Given the description of an element on the screen output the (x, y) to click on. 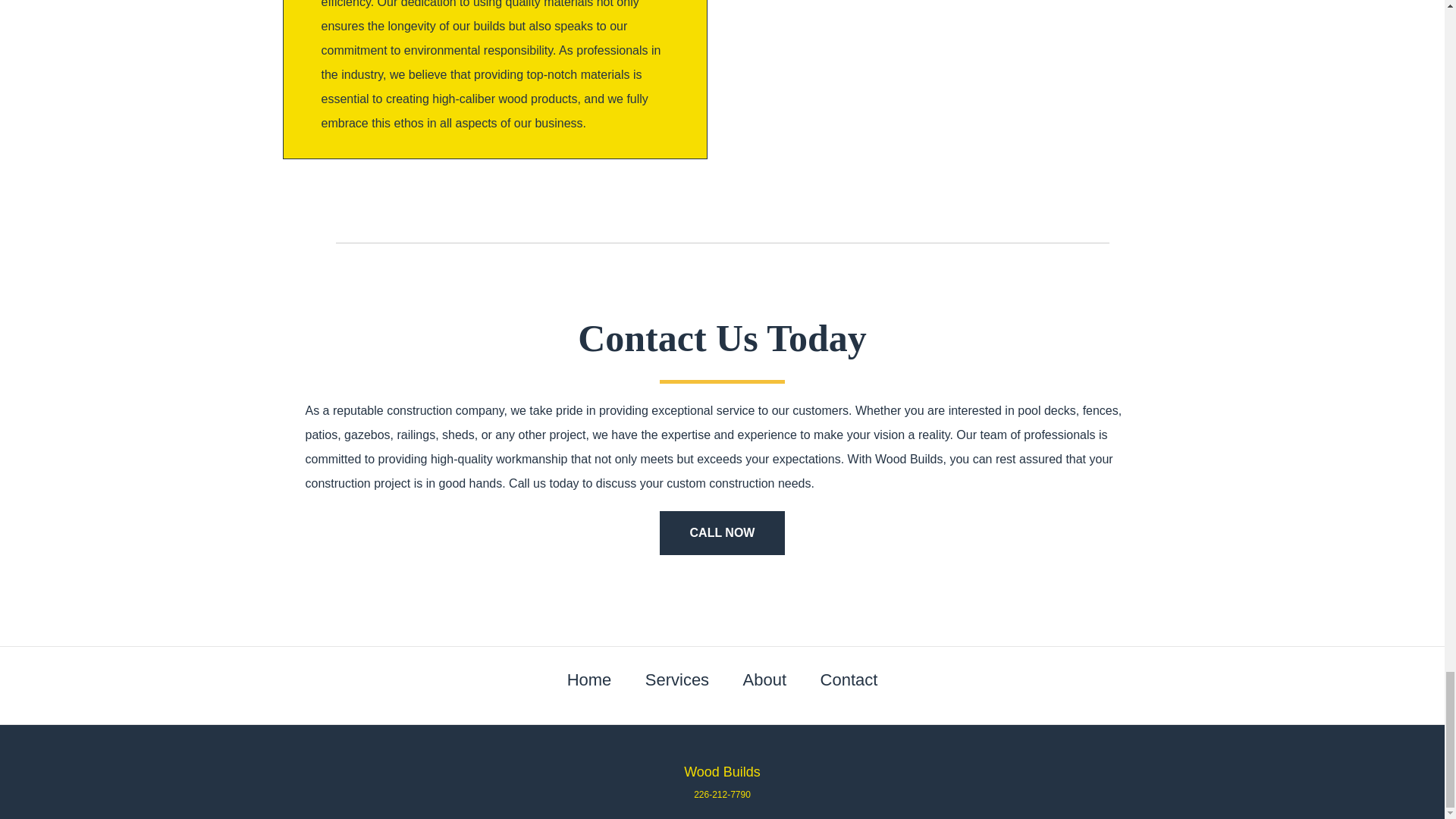
CALL NOW (722, 533)
About (764, 679)
Contact (849, 679)
Services (677, 679)
Home (589, 679)
